Given the description of an element on the screen output the (x, y) to click on. 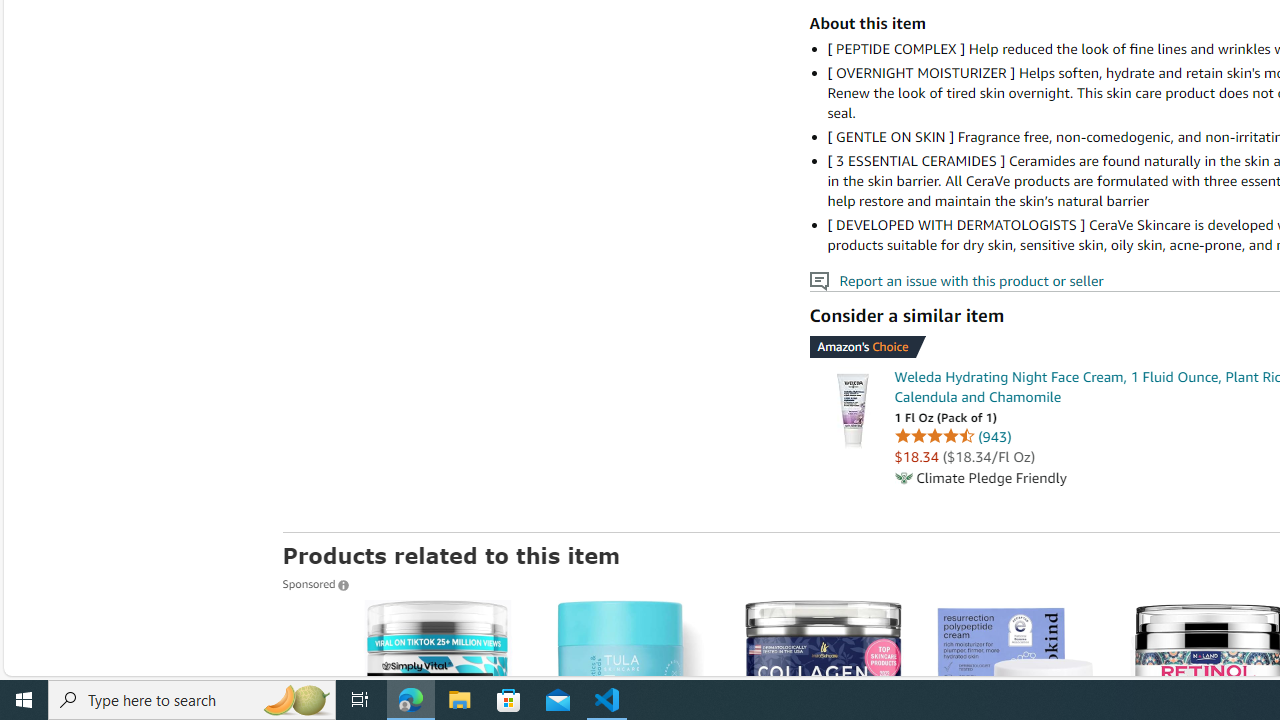
Sponsored  (315, 583)
Report an issue with this product or seller (818, 281)
Climate Pledge Friendly (902, 478)
943 ratings (994, 436)
